Given the description of an element on the screen output the (x, y) to click on. 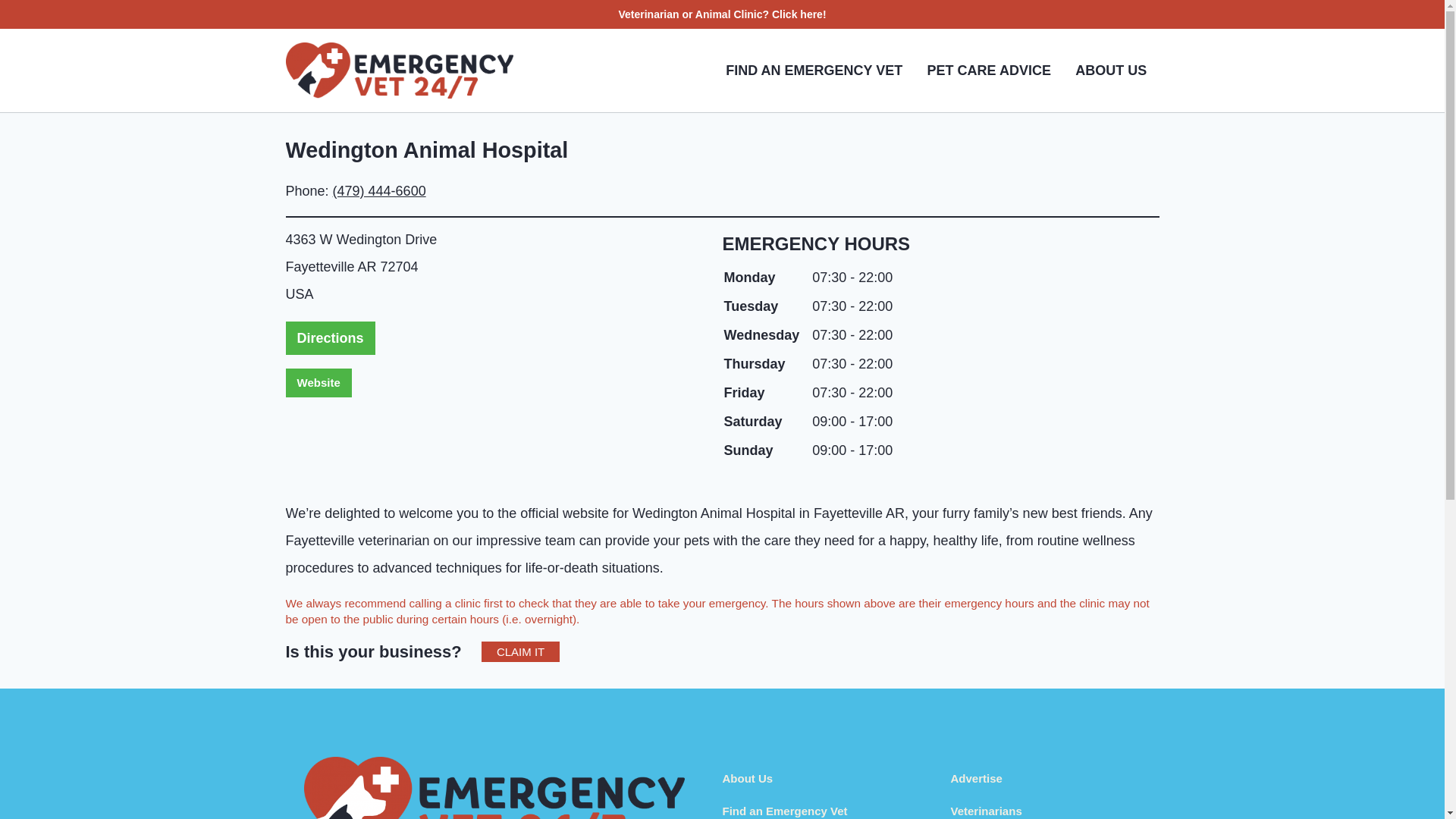
Veterinarians (986, 810)
FIND AN EMERGENCY VET (813, 70)
Directions (329, 337)
Veterinarian or Animal Clinic? Click here! (721, 14)
PET CARE ADVICE (988, 70)
Advertise (976, 778)
Find an Emergency Vet (784, 810)
CLAIM IT (520, 651)
ABOUT US (1110, 70)
About Us (747, 778)
